Given the description of an element on the screen output the (x, y) to click on. 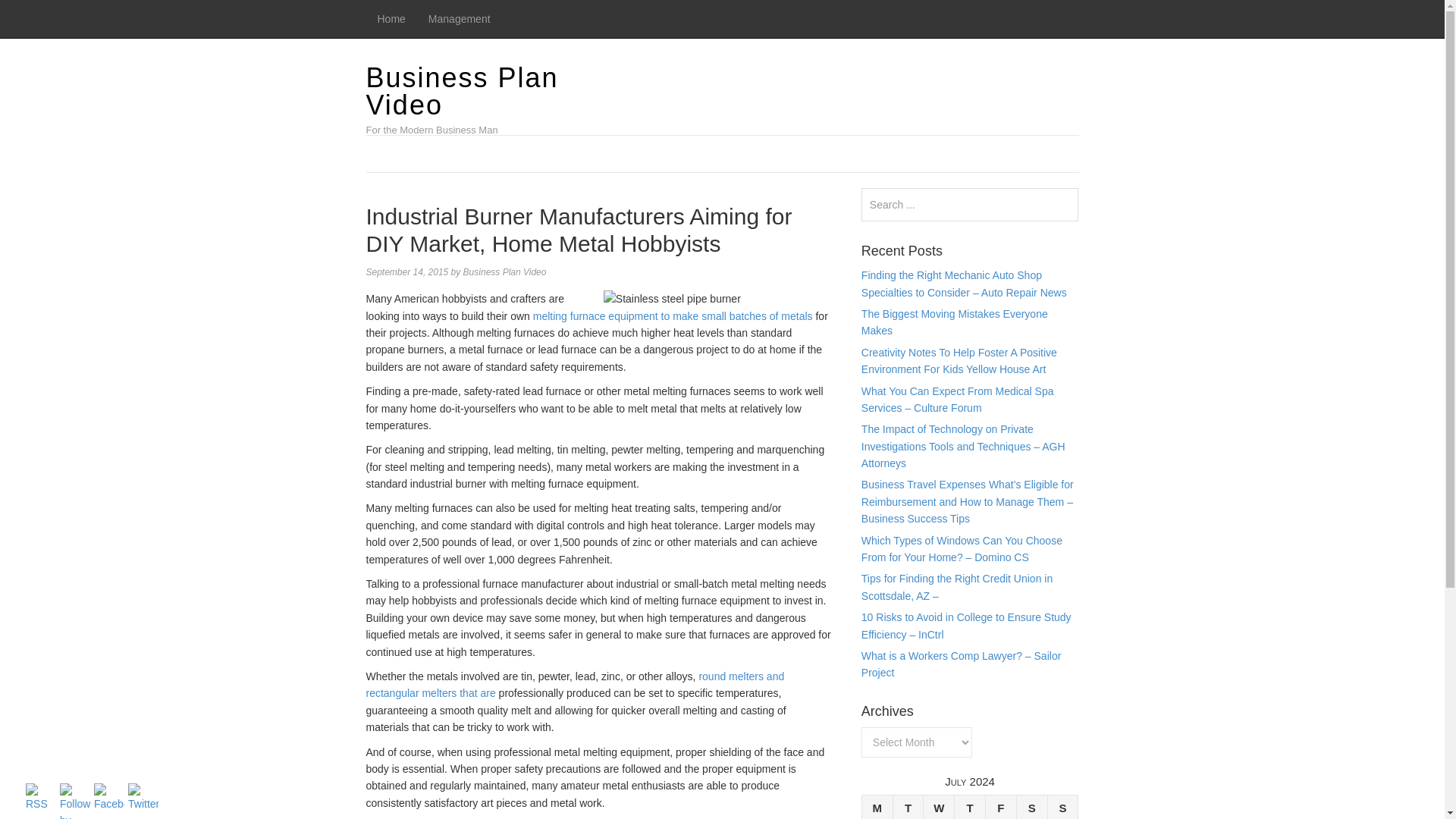
Tuesday (907, 806)
The Biggest Moving Mistakes Everyone Makes (954, 321)
Business Plan Video (461, 91)
Torch burners, Radial ring burner (574, 684)
Friday (1000, 806)
Home (390, 18)
melting furnace equipment to make small batches of metals (672, 316)
Management (459, 18)
Search for: (969, 204)
Posts by Business Plan Video (505, 271)
Stuff (672, 316)
Business Plan Video (461, 91)
